Given the description of an element on the screen output the (x, y) to click on. 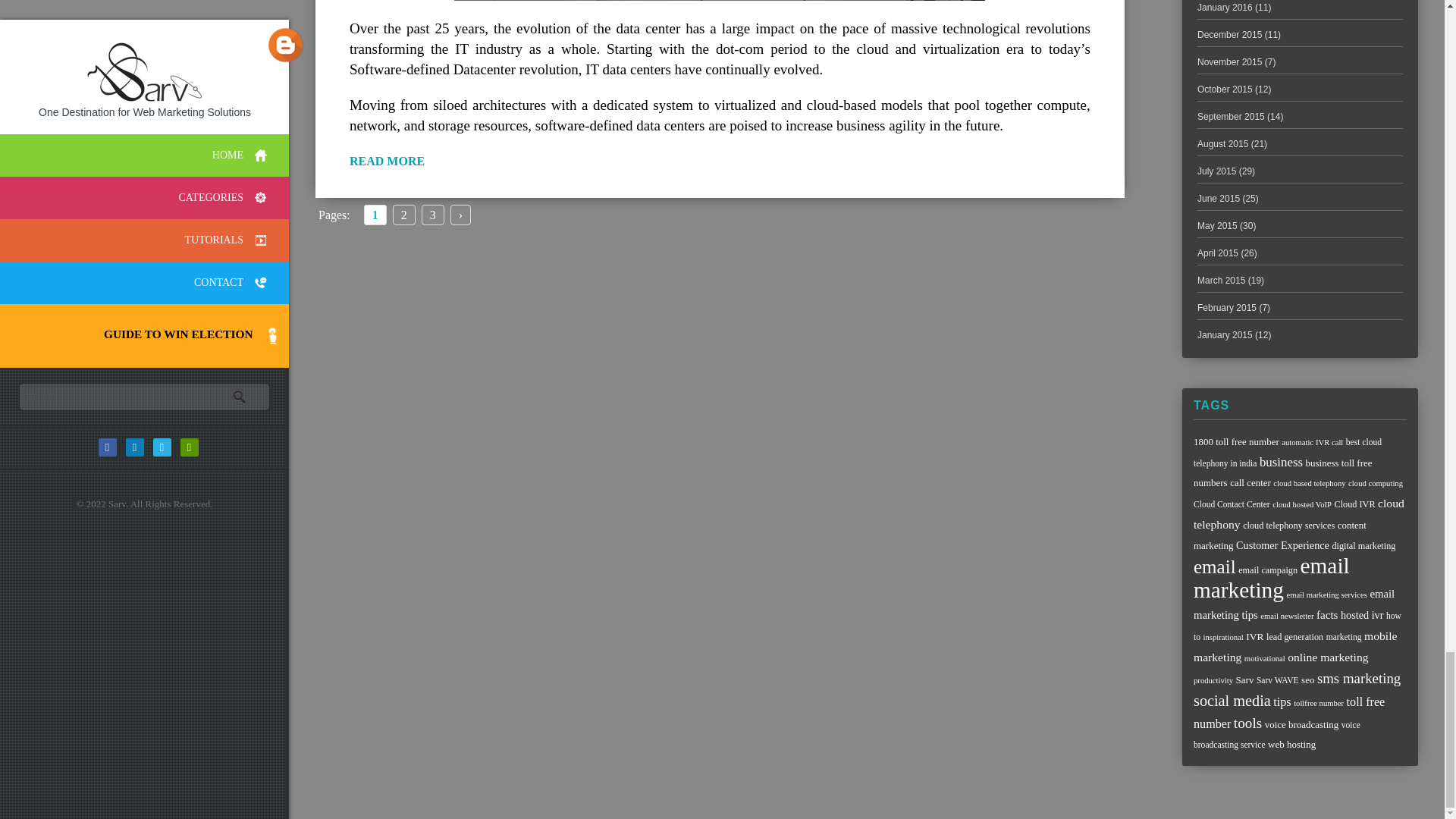
9 topics (1287, 452)
8 topics (1308, 483)
11 topics (1282, 472)
8 topics (1375, 483)
11 topics (1236, 441)
19 topics (1281, 462)
11 topics (1250, 482)
8 topics (1311, 442)
